Given the description of an element on the screen output the (x, y) to click on. 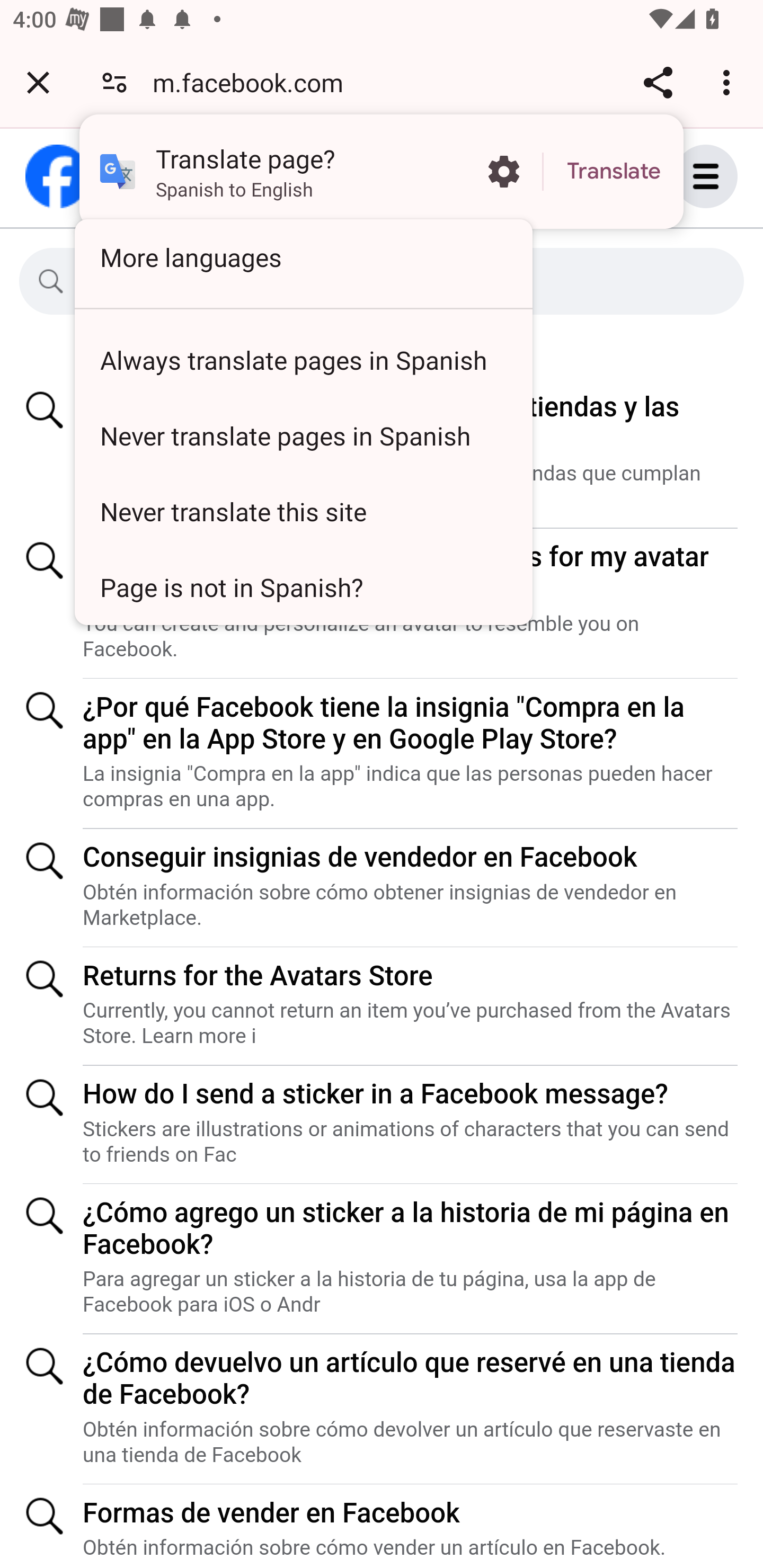
More languages (303, 256)
Always translate pages in Spanish (303, 359)
Never translate pages in Spanish (303, 435)
Never translate this site (303, 510)
Page is not in Spanish? (303, 586)
